Given the description of an element on the screen output the (x, y) to click on. 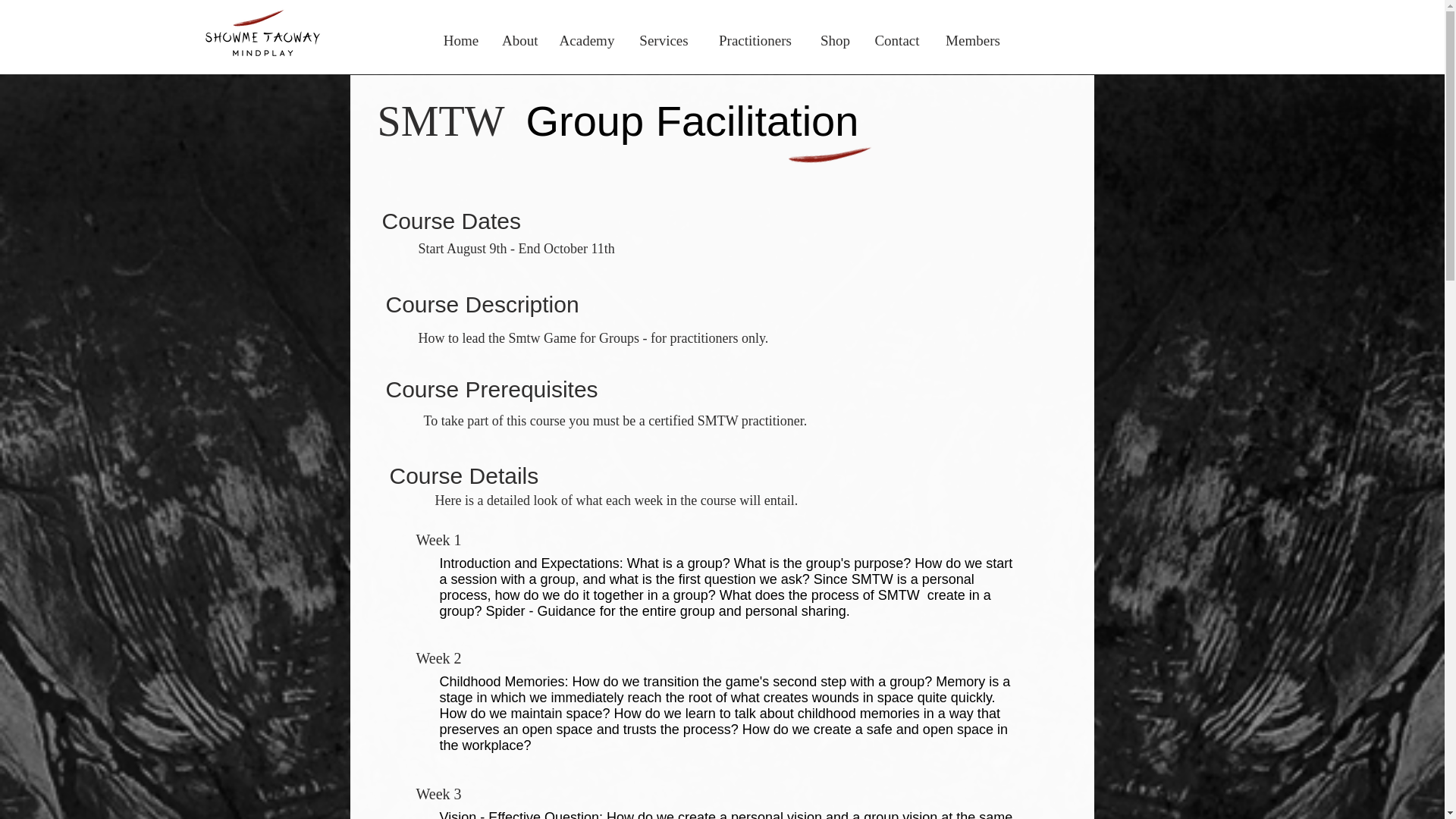
Home (460, 40)
Members (973, 40)
Contact (897, 40)
